Given the description of an element on the screen output the (x, y) to click on. 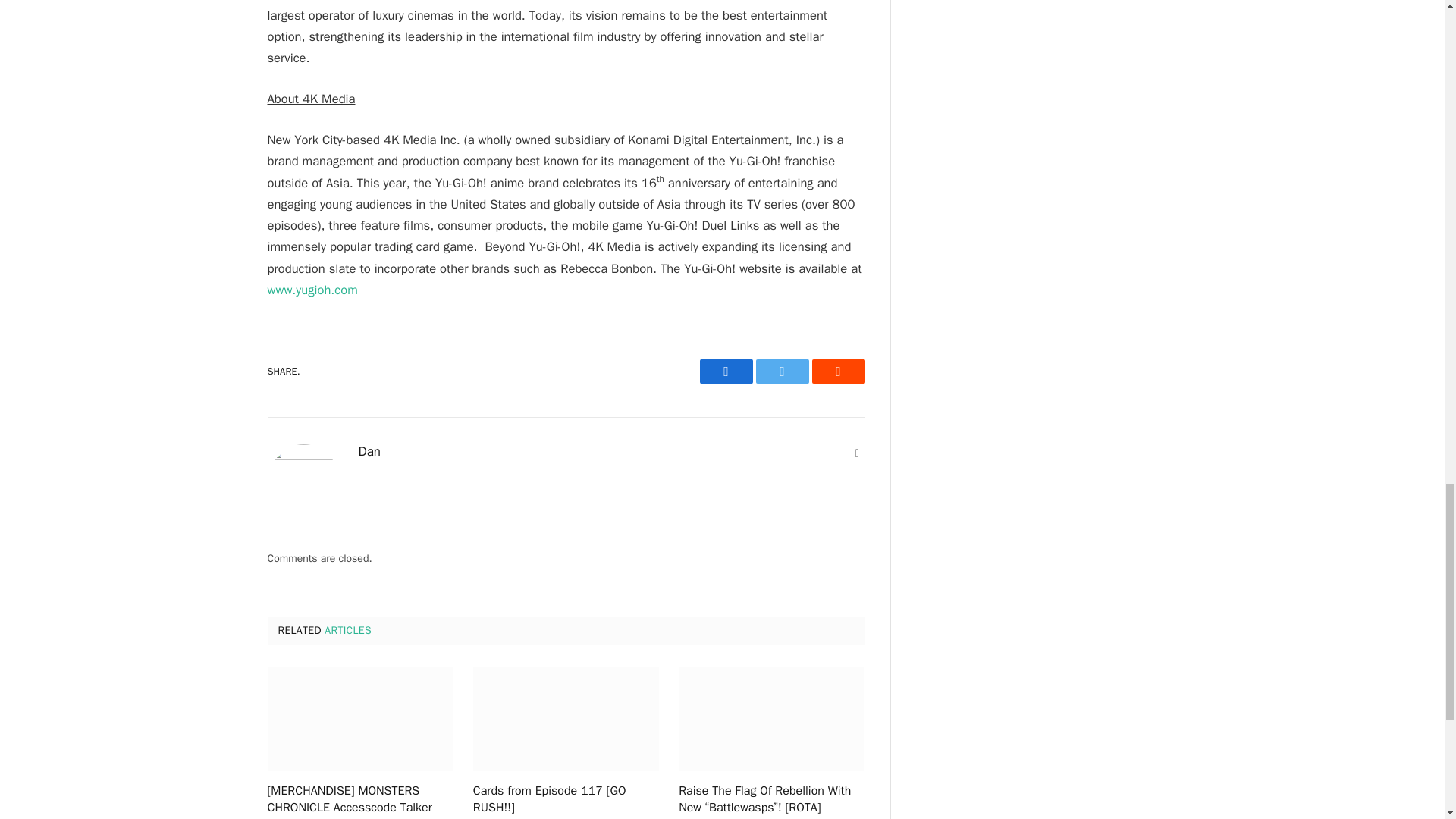
Share on Facebook (725, 371)
Share on Reddit (837, 371)
www.yugioh.com (311, 289)
